Given the description of an element on the screen output the (x, y) to click on. 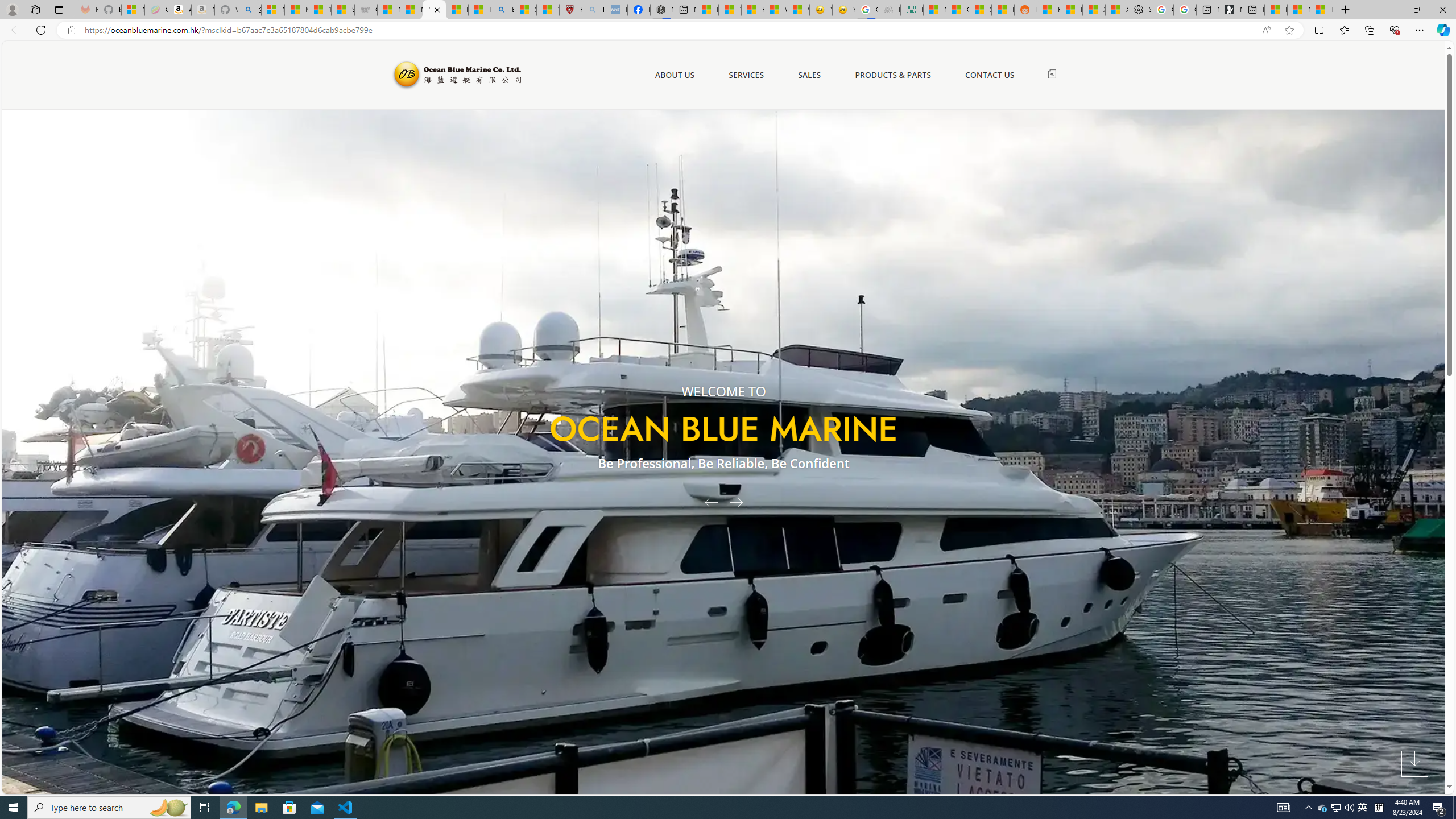
PRODUCTS & PARTS (892, 74)
12 Popular Science Lies that Must be Corrected (547, 9)
Recipes - MSN (457, 9)
SALES (809, 75)
Next Section (1414, 764)
Stocks - MSN (979, 9)
PRODUCTS & PARTS (892, 75)
Ocean Blue Marine (455, 74)
